Given the description of an element on the screen output the (x, y) to click on. 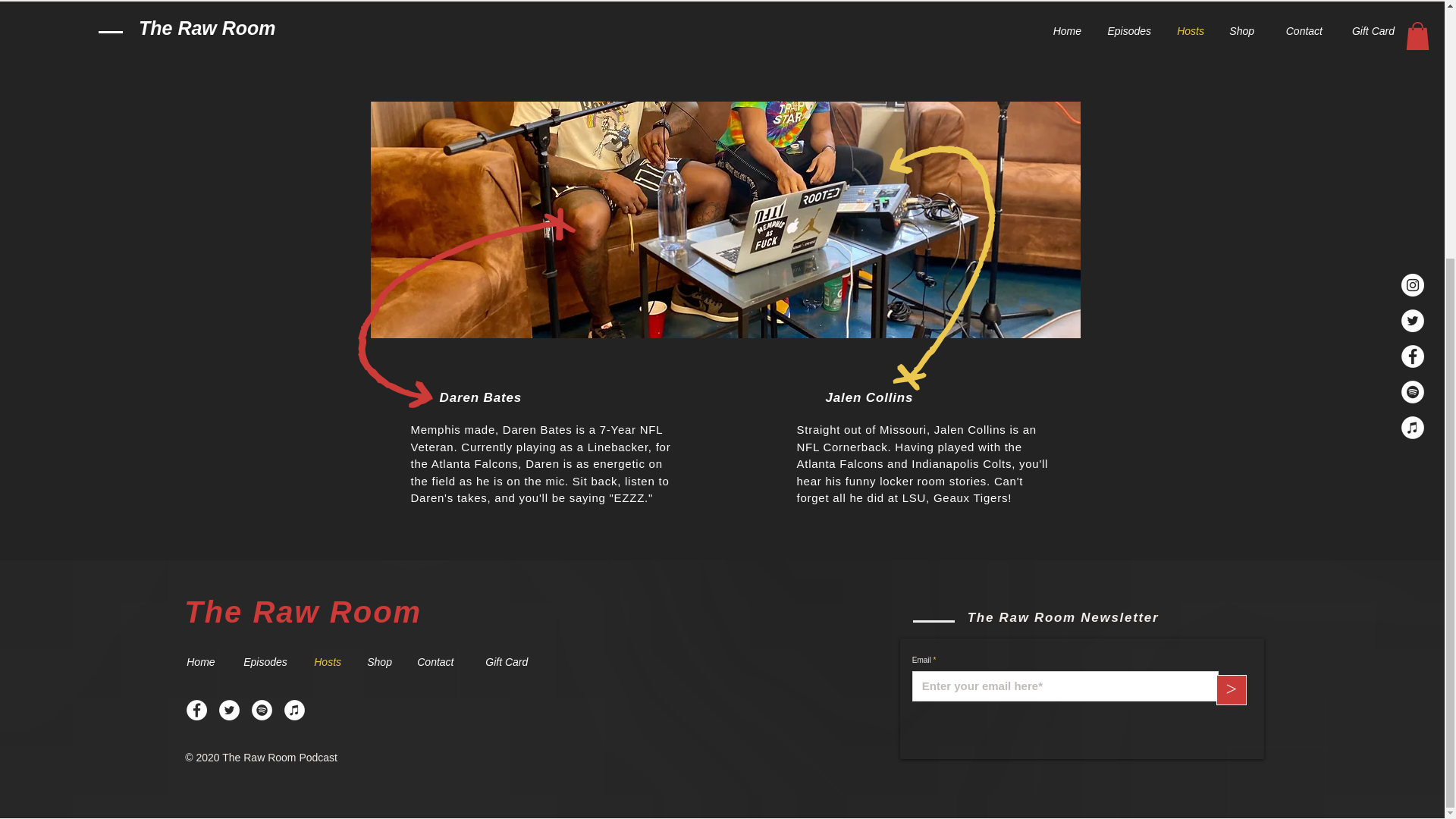
Episodes (266, 661)
Gift Card (510, 661)
Shop (380, 661)
Home (202, 661)
Contact (440, 661)
Hosts (328, 661)
